Given the description of an element on the screen output the (x, y) to click on. 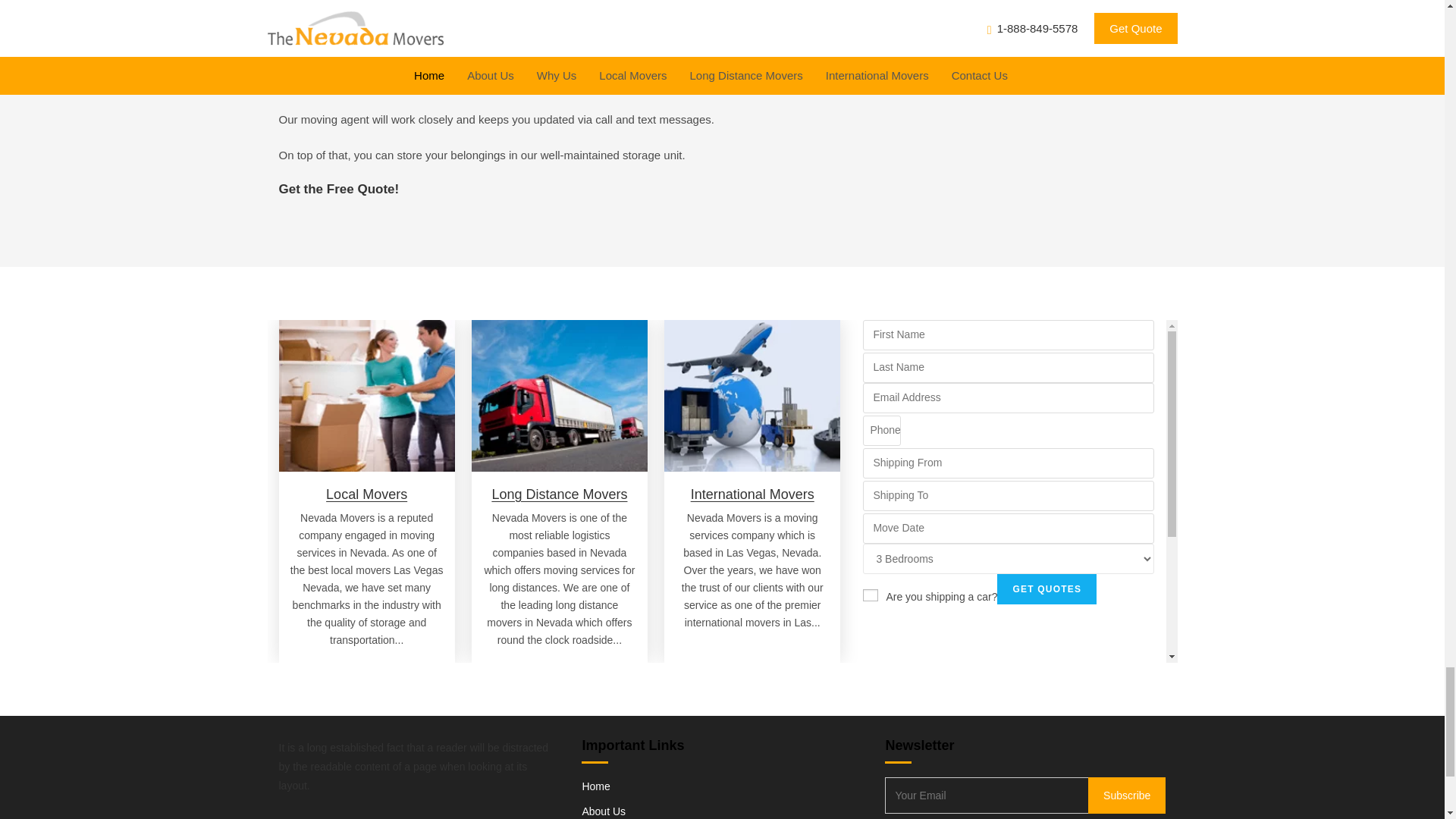
Subscribe (1126, 795)
Get Quotes (1046, 589)
Home (595, 786)
Long Distance Movers (559, 494)
Local Movers (366, 494)
About Us (603, 811)
Get Quotes (1046, 589)
International Movers (751, 494)
